Given the description of an element on the screen output the (x, y) to click on. 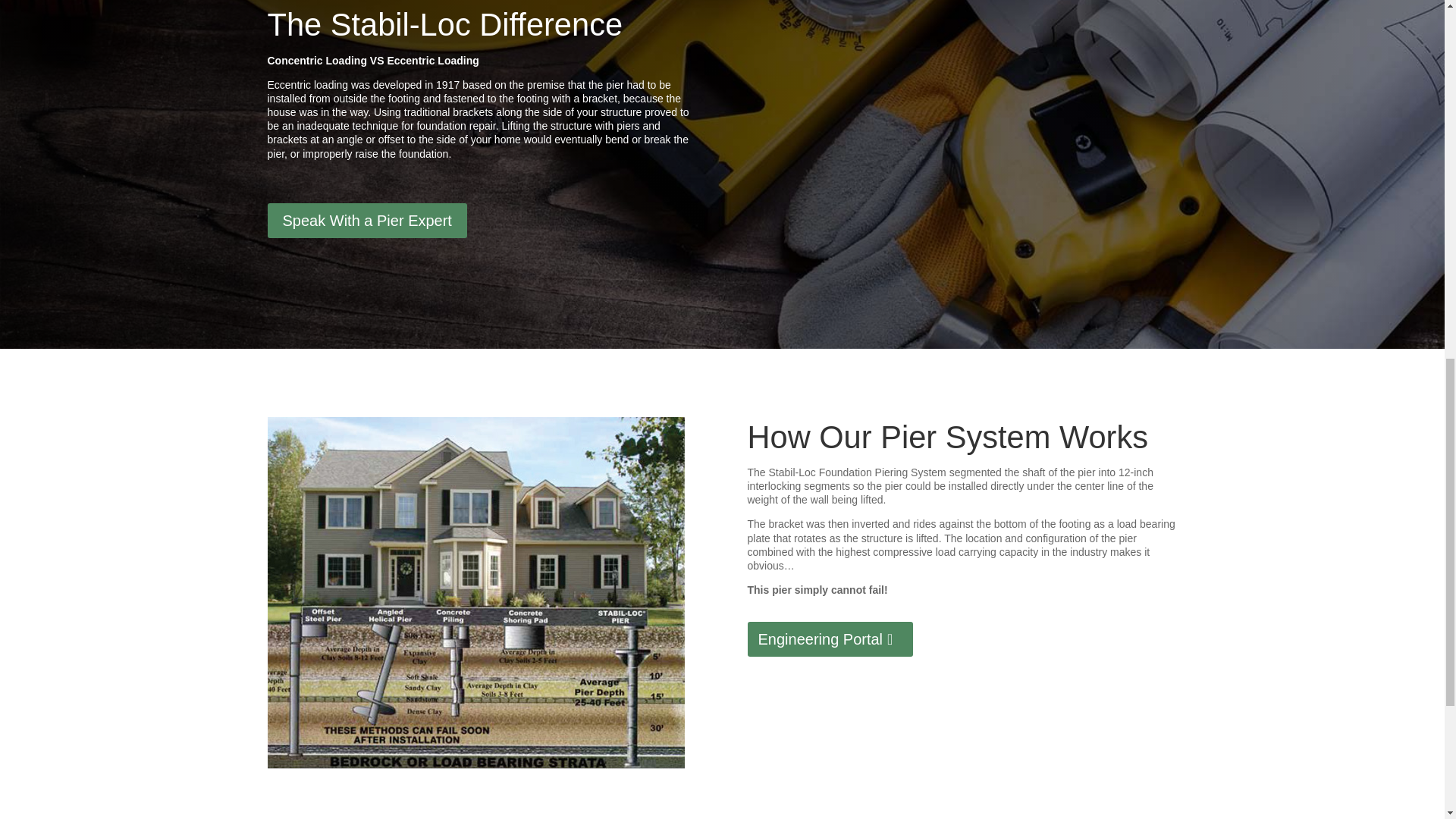
Engineering Portal (831, 638)
Speak With a Pier Expert (365, 220)
